Given the description of an element on the screen output the (x, y) to click on. 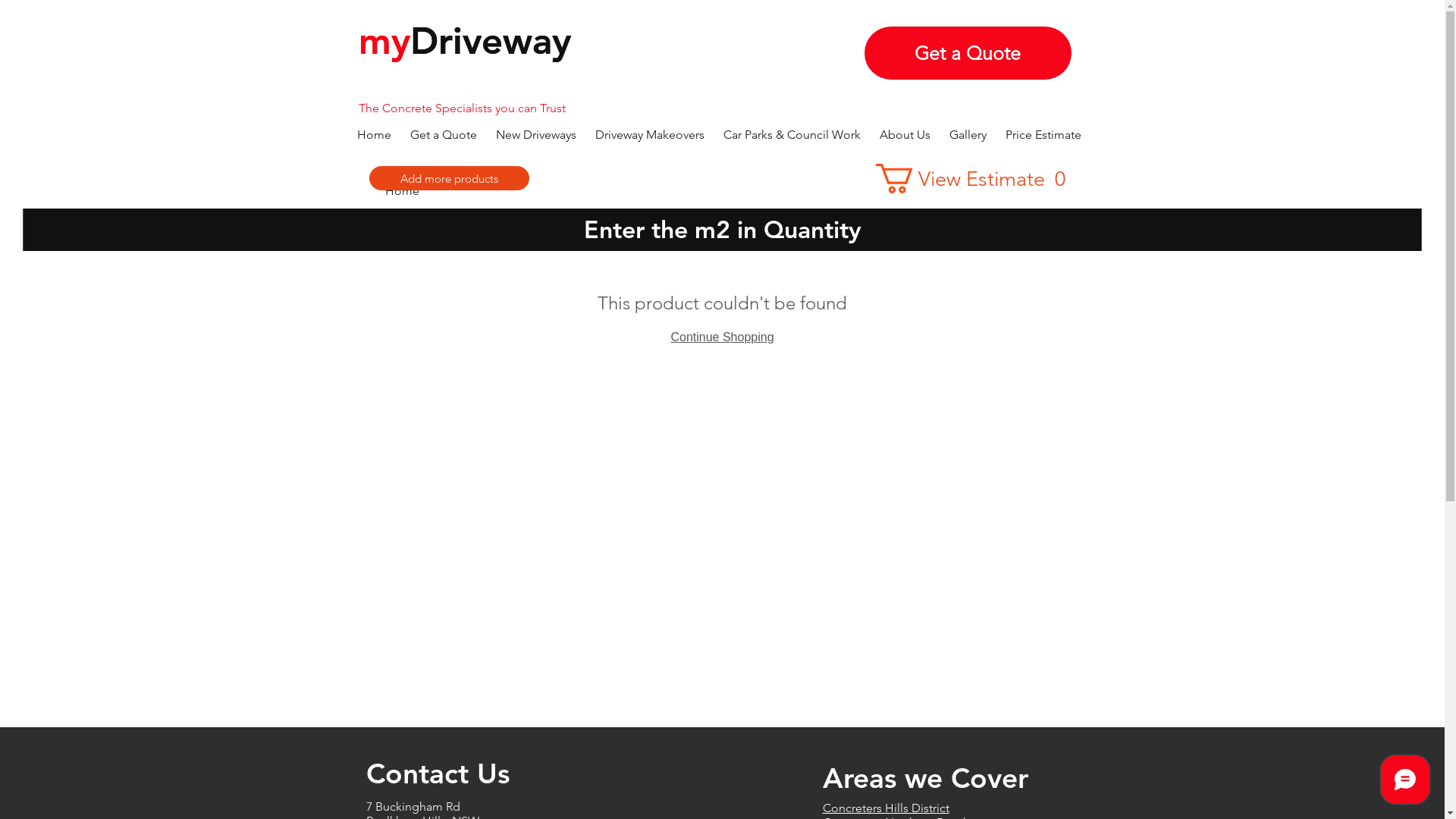
About Us Element type: text (906, 134)
New Driveways Element type: text (537, 134)
Home Element type: text (374, 134)
Car Parks & Council Work Element type: text (793, 134)
Add more products Element type: text (448, 178)
View Estimate
0 Element type: text (976, 178)
Home Element type: text (402, 190)
Concreters Hills District Element type: text (885, 807)
Driveway Makeovers Element type: text (650, 134)
myDriveway Element type: text (463, 40)
Price Estimate Element type: text (1044, 134)
Continue Shopping Element type: text (721, 336)
Get a Quote Element type: text (444, 134)
Get a Quote Element type: text (967, 52)
Gallery Element type: text (969, 134)
